Given the description of an element on the screen output the (x, y) to click on. 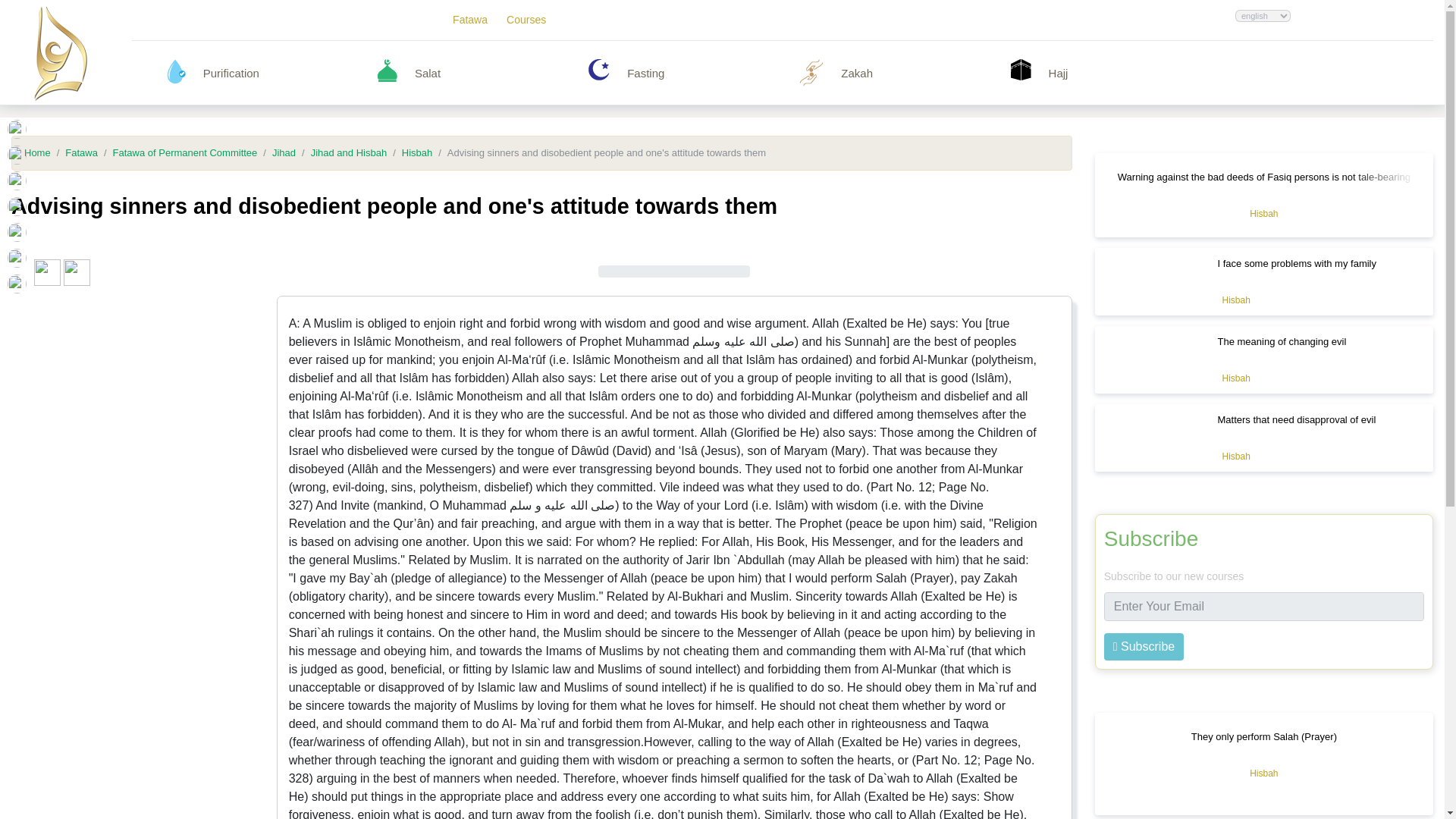
Hisbah (1263, 213)
Salat (494, 73)
I face some problems with my family (1296, 263)
Hajj (1020, 69)
Hisbah (1235, 299)
Zakah (920, 73)
Hajj (1128, 73)
Fatawa (469, 19)
Hisbah (1235, 378)
Courses (525, 19)
Purification (282, 73)
The meaning of changing evil (1281, 341)
Matters that need disapproval of evil (1296, 419)
Home (37, 152)
